Given the description of an element on the screen output the (x, y) to click on. 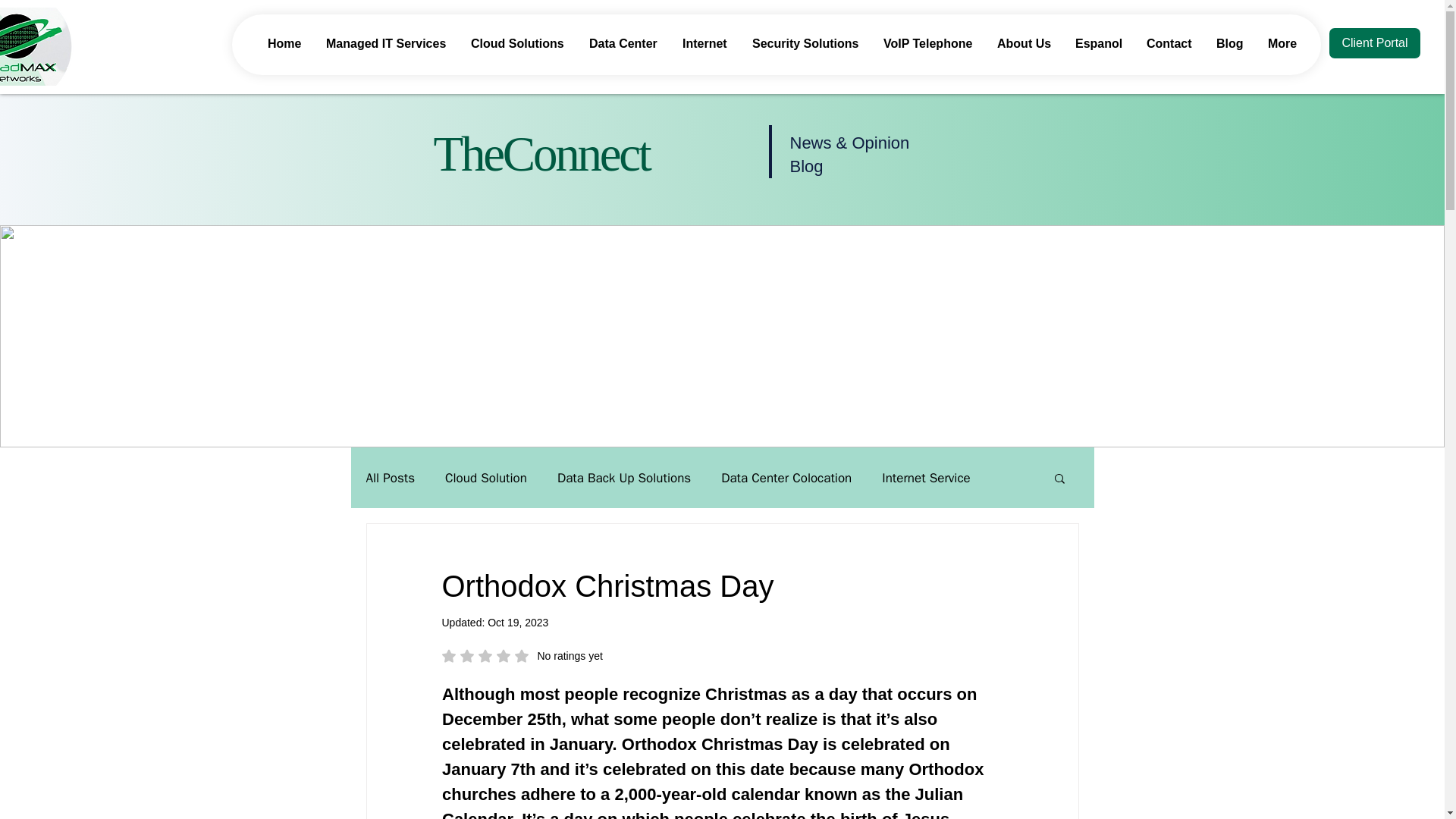
Oct 19, 2023 (517, 622)
Managed IT Services (387, 43)
Data Center (624, 43)
Internet (706, 43)
Home (285, 43)
Cloud Solutions (519, 43)
